Given the description of an element on the screen output the (x, y) to click on. 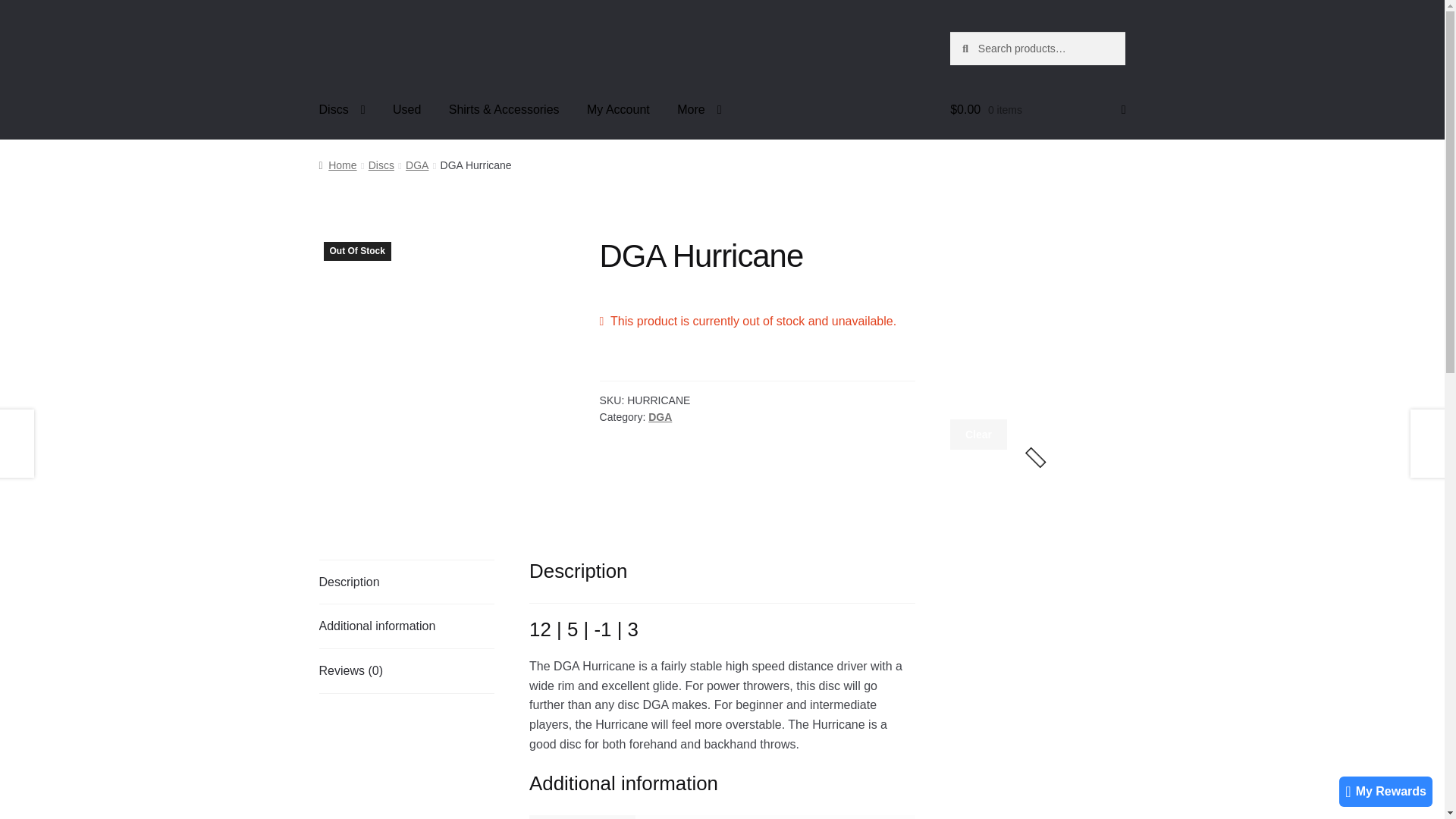
More (699, 109)
View your shopping cart (1037, 109)
My Account (618, 109)
Discs (342, 109)
